Given the description of an element on the screen output the (x, y) to click on. 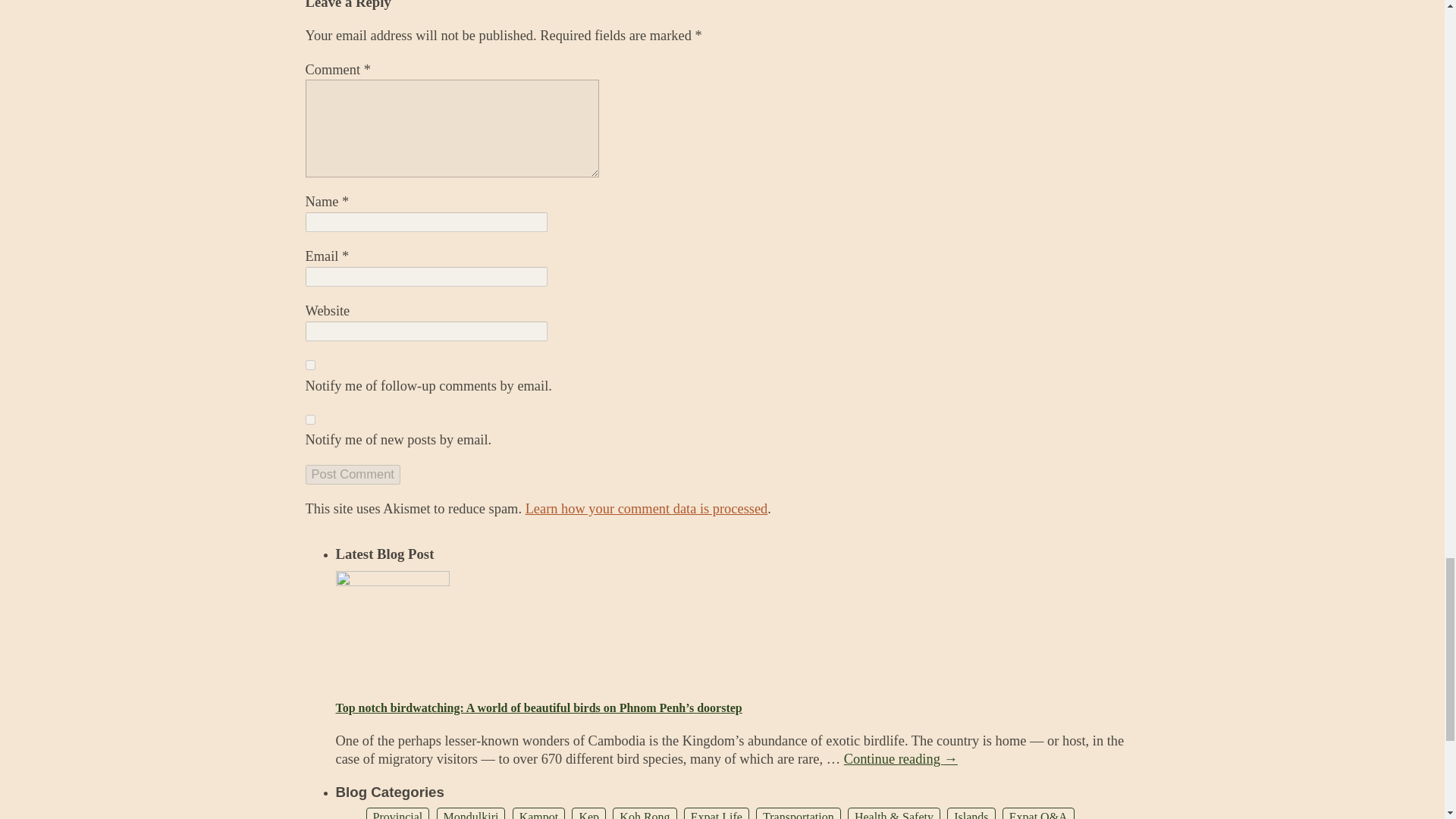
subscribe (309, 419)
subscribe (309, 365)
Post Comment (351, 474)
Learn how your comment data is processed (646, 508)
Post Comment (351, 474)
